Given the description of an element on the screen output the (x, y) to click on. 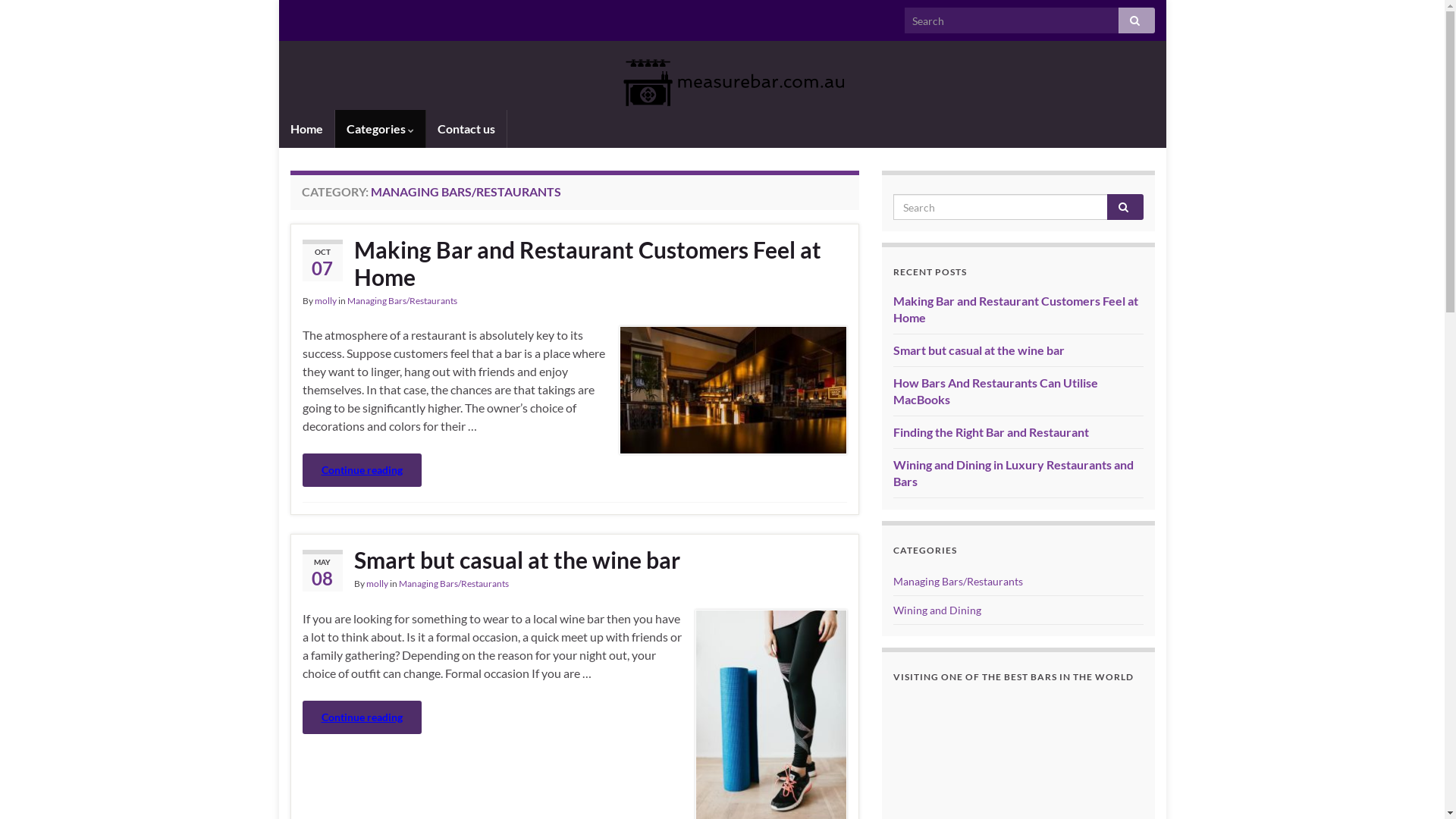
molly Element type: text (376, 583)
Making Bar and Restaurant Customers Feel at Home Element type: text (1015, 308)
Wining and Dining Element type: text (937, 609)
Smart but casual at the wine bar Element type: text (573, 559)
Managing Bars/Restaurants Element type: text (402, 300)
Managing Bars/Restaurants Element type: text (957, 580)
Making Bar and Restaurant Customers Feel at Home Element type: text (573, 262)
Finding the Right Bar and Restaurant Element type: text (990, 431)
Smart but casual at the wine bar Element type: text (978, 349)
Continue reading Element type: text (360, 469)
How Bars And Restaurants Can Utilise MacBooks Element type: text (995, 390)
Continue reading Element type: text (360, 717)
Home Element type: text (306, 128)
Categories Element type: text (380, 128)
Managing Bars/Restaurants Element type: text (453, 583)
Contact us Element type: text (466, 128)
Wining and Dining in Luxury Restaurants and Bars Element type: text (1013, 472)
molly Element type: text (324, 300)
